Given the description of an element on the screen output the (x, y) to click on. 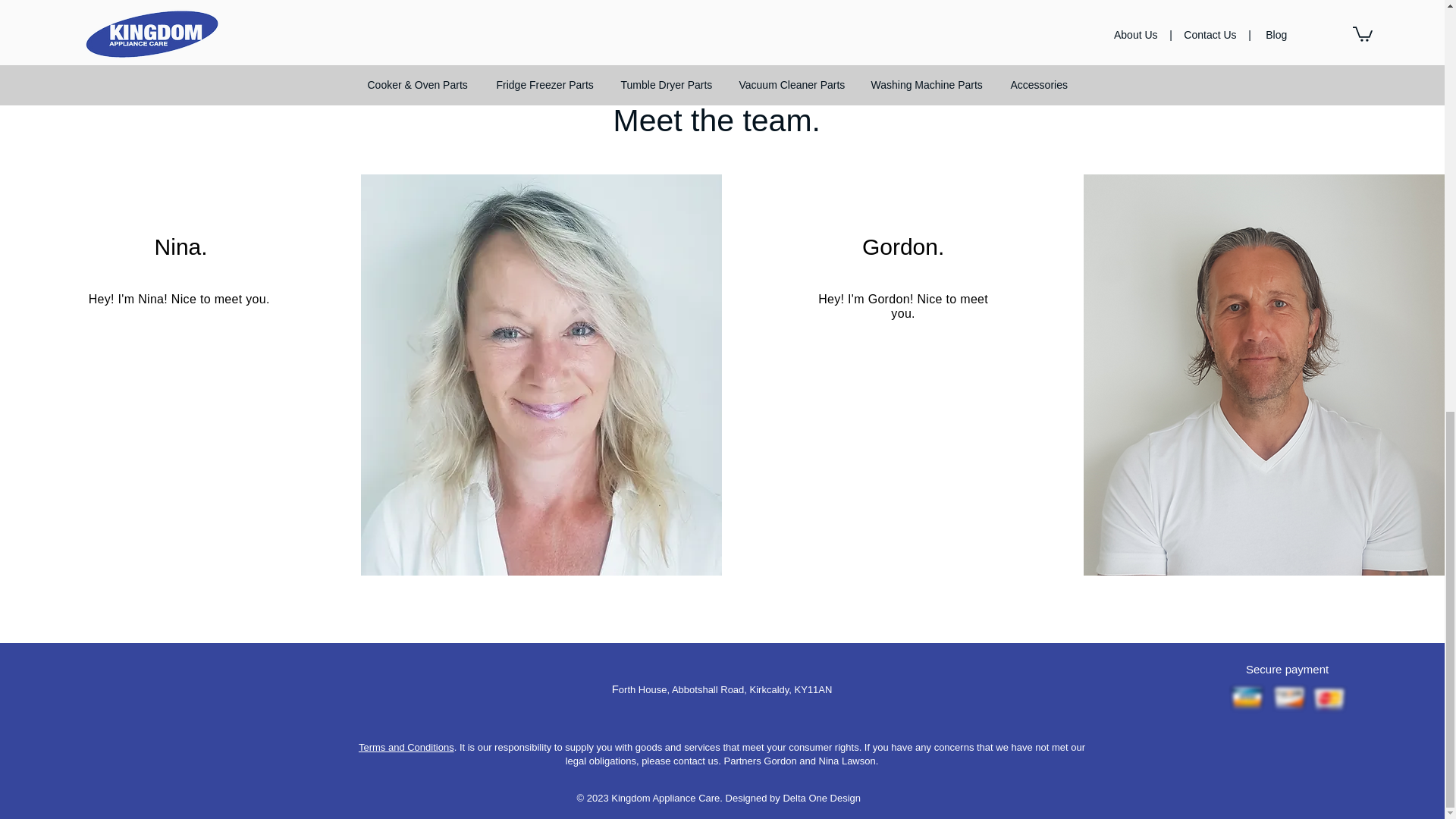
Delta One Design (821, 797)
Terms and Conditions (406, 747)
